Given the description of an element on the screen output the (x, y) to click on. 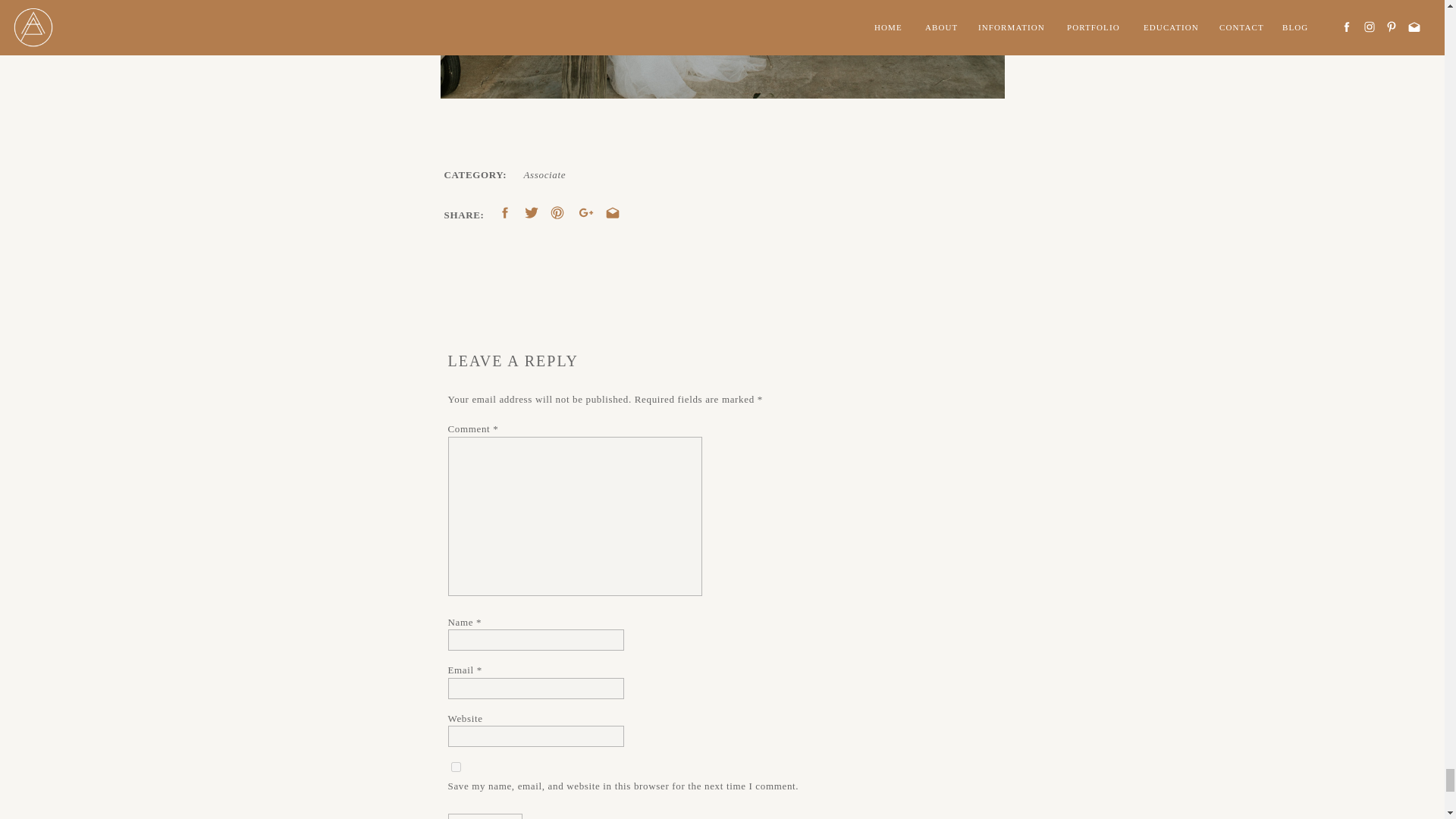
yes (454, 767)
Post Comment (484, 816)
Post Comment (484, 816)
Associate (544, 174)
